Given the description of an element on the screen output the (x, y) to click on. 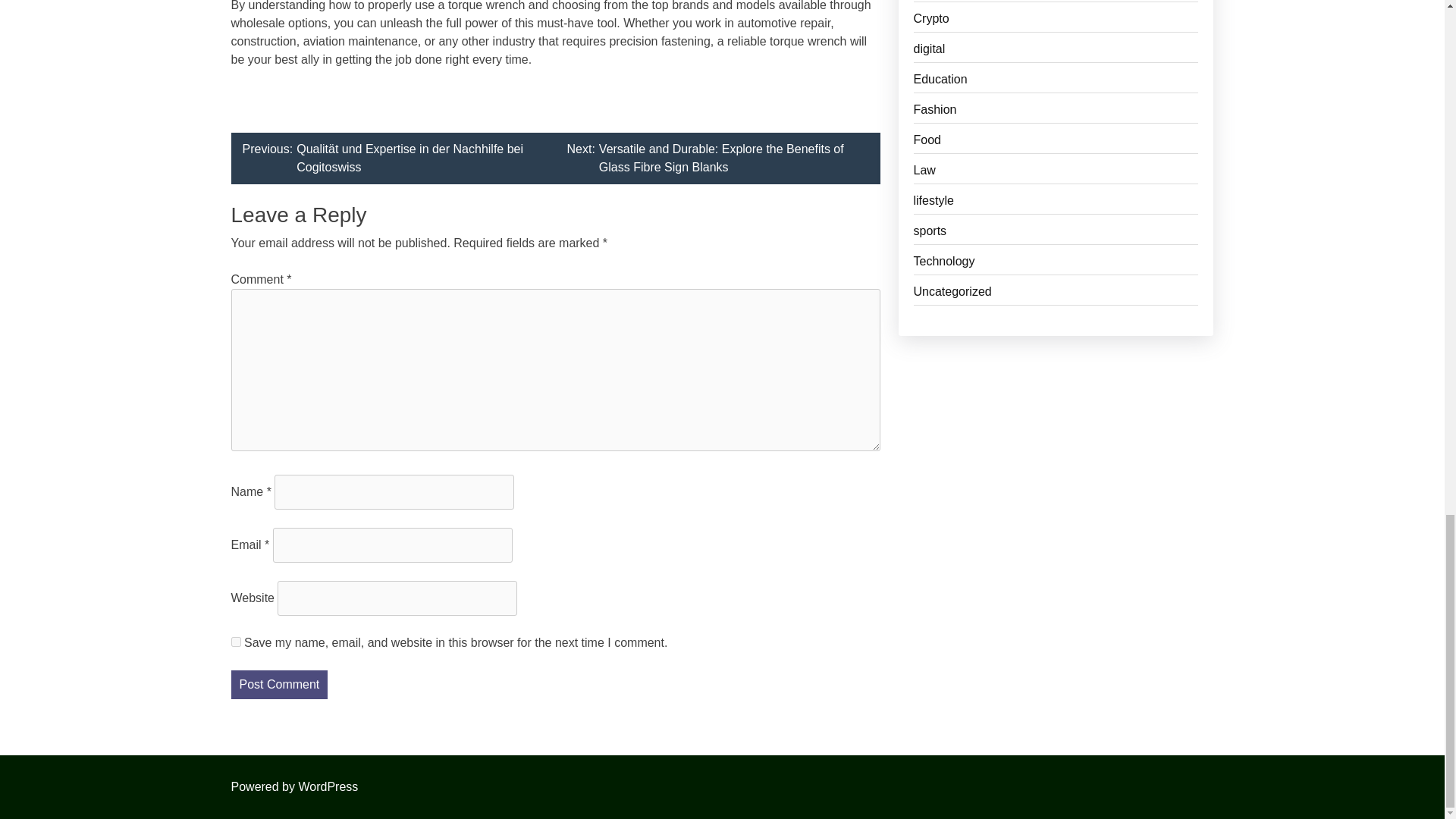
Post Comment (278, 684)
Education (1055, 81)
Crypto (1055, 20)
Fashion (1055, 111)
digital (1055, 51)
Post Comment (278, 684)
yes (235, 642)
